Given the description of an element on the screen output the (x, y) to click on. 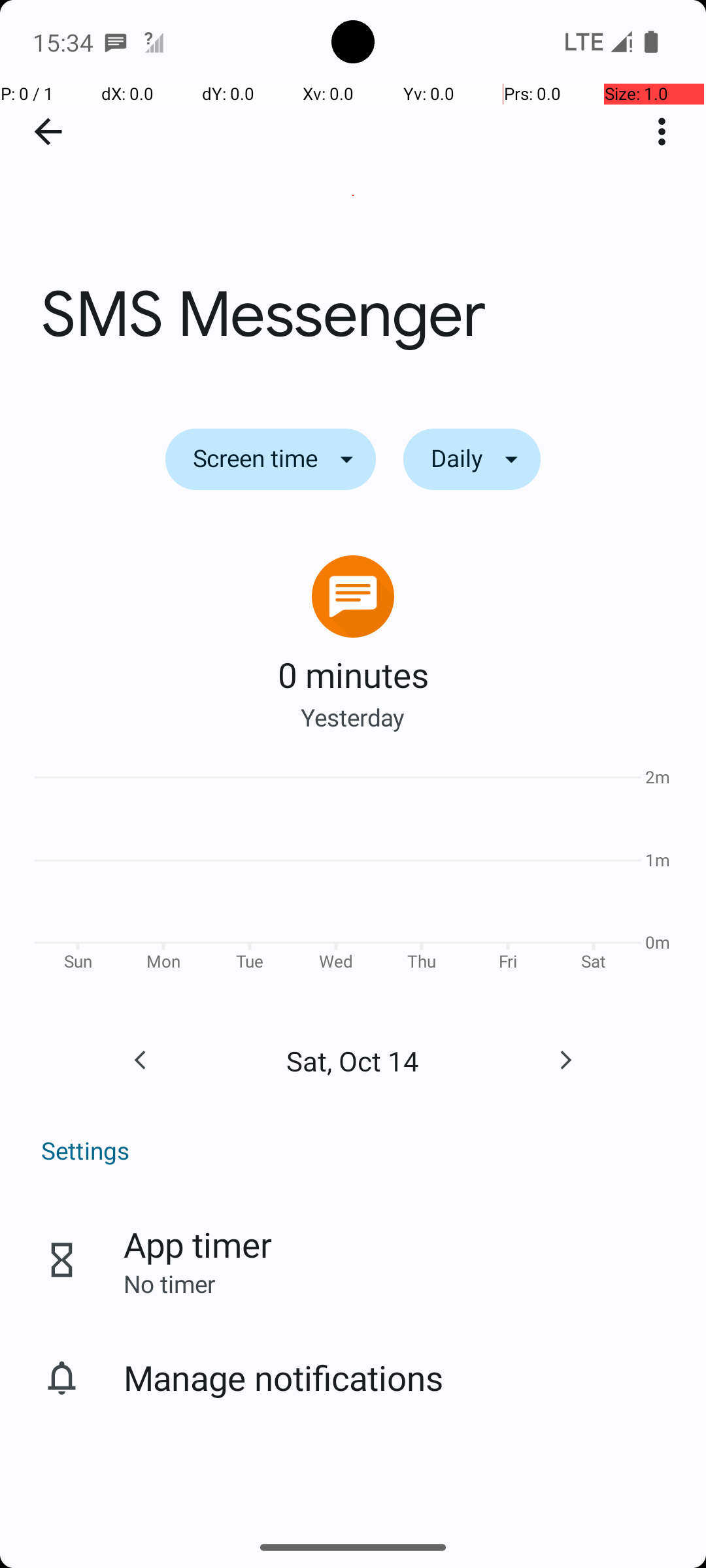
0 minutes Element type: android.widget.TextView (353, 674)
Go to the next day Element type: android.widget.Button (565, 1060)
App timer Element type: android.widget.TextView (197, 1244)
No timer Element type: android.widget.TextView (169, 1283)
Manage notifications Element type: android.widget.TextView (283, 1377)
